Given the description of an element on the screen output the (x, y) to click on. 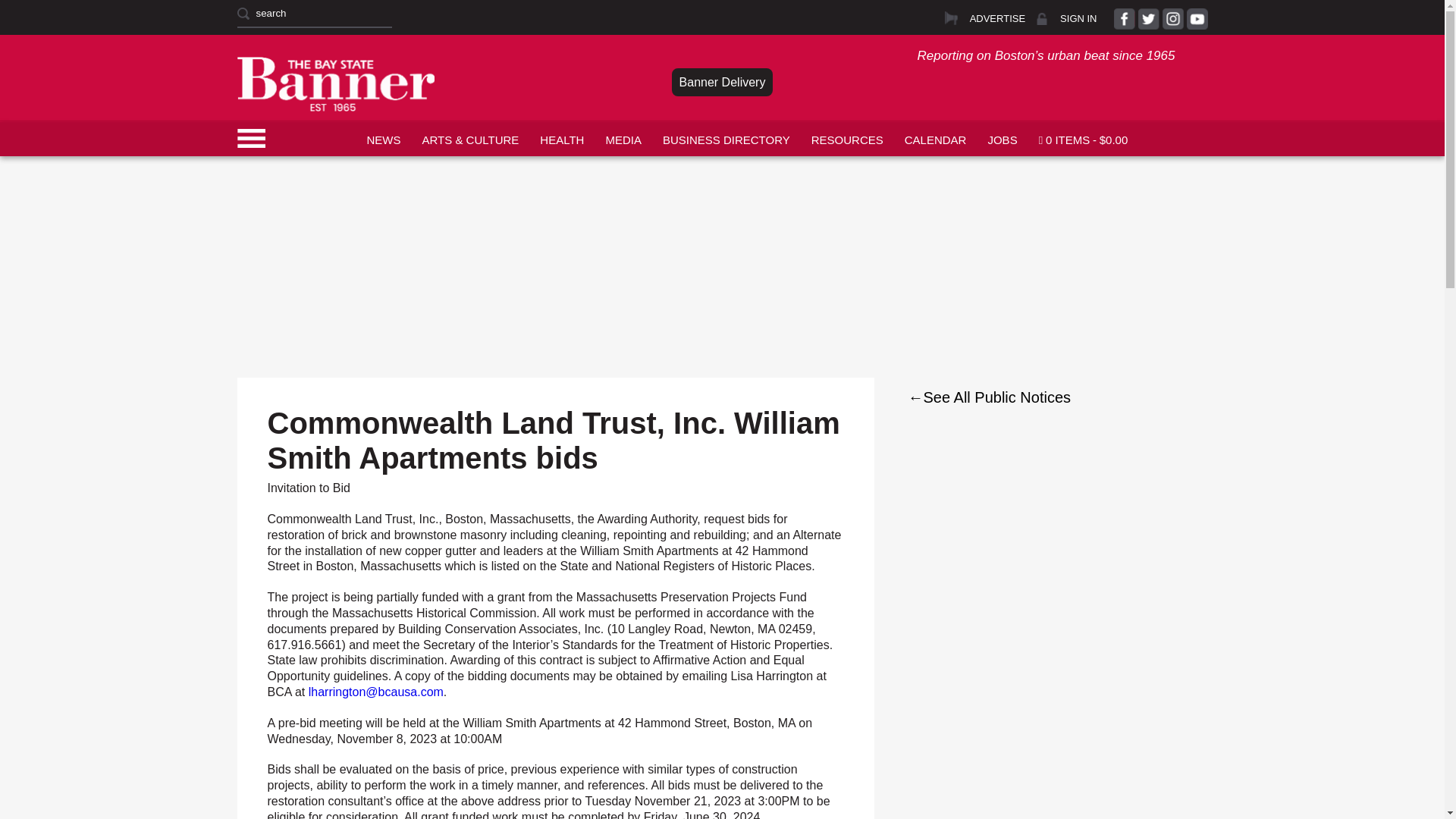
Start shopping (1082, 138)
The Bay State Banner (334, 83)
3rd party ad content (721, 191)
